Given the description of an element on the screen output the (x, y) to click on. 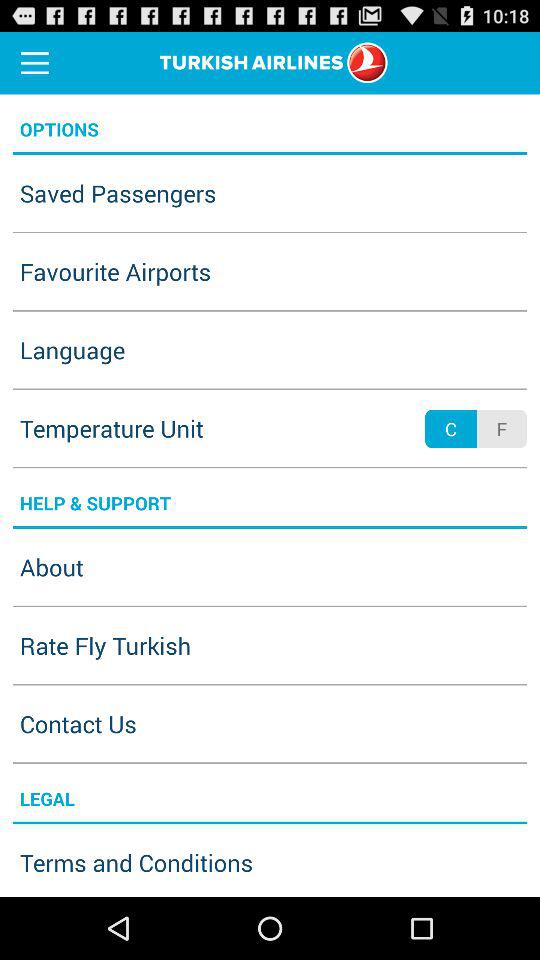
choose icon next to the f (450, 428)
